Given the description of an element on the screen output the (x, y) to click on. 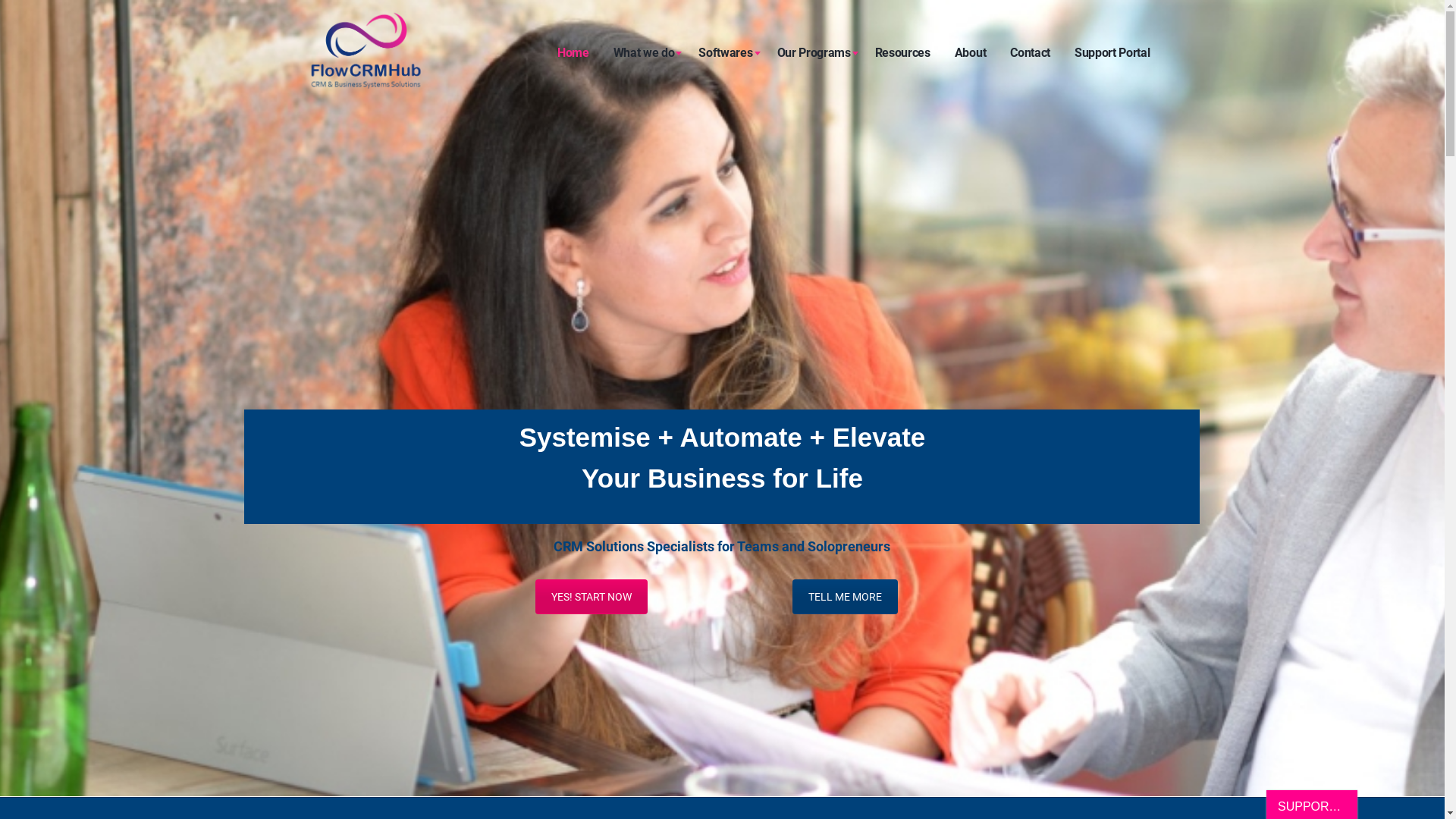
YES! START NOW Element type: text (591, 596)
Home Element type: text (573, 52)
What we do Element type: text (644, 52)
Support Portal Element type: text (1112, 52)
About Element type: text (969, 52)
Resources Element type: text (902, 52)
Our Programs Element type: text (813, 52)
Softwares Element type: text (725, 52)
Contact Element type: text (1029, 52)
TELL ME MORE Element type: text (844, 596)
